Given the description of an element on the screen output the (x, y) to click on. 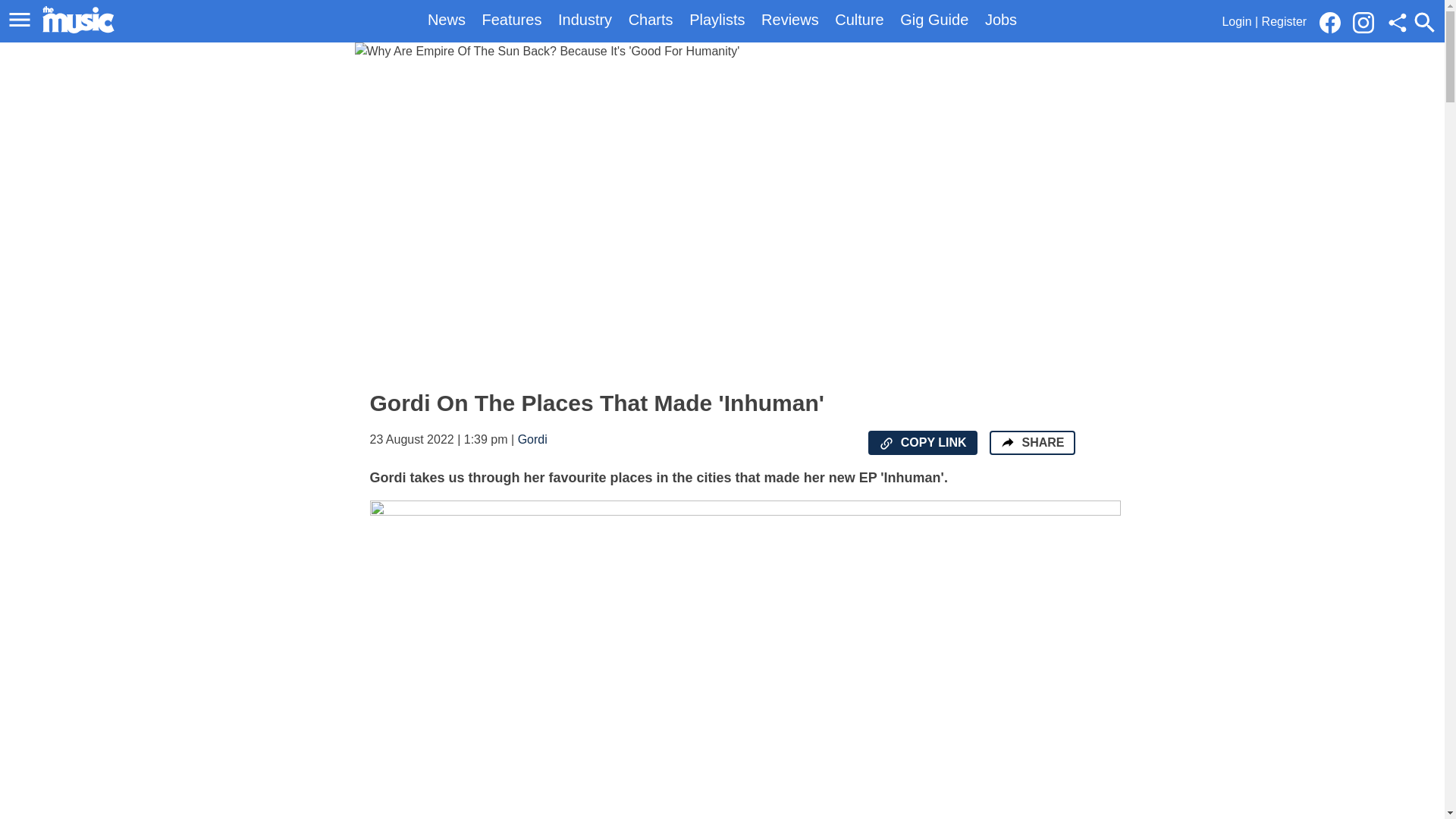
Open the site search menu (1424, 22)
Share this page (1397, 22)
Share the page SHARE (1032, 442)
Link to our Instagram (1363, 22)
Gig Guide (933, 19)
Open the site search menu (1424, 22)
Industry (584, 19)
Login (1235, 21)
Reviews (789, 19)
Copy the page URL COPY LINK (921, 442)
Features (511, 19)
Open the main menu (19, 19)
Culture (858, 19)
Open the main menu (22, 19)
Charts (650, 19)
